Given the description of an element on the screen output the (x, y) to click on. 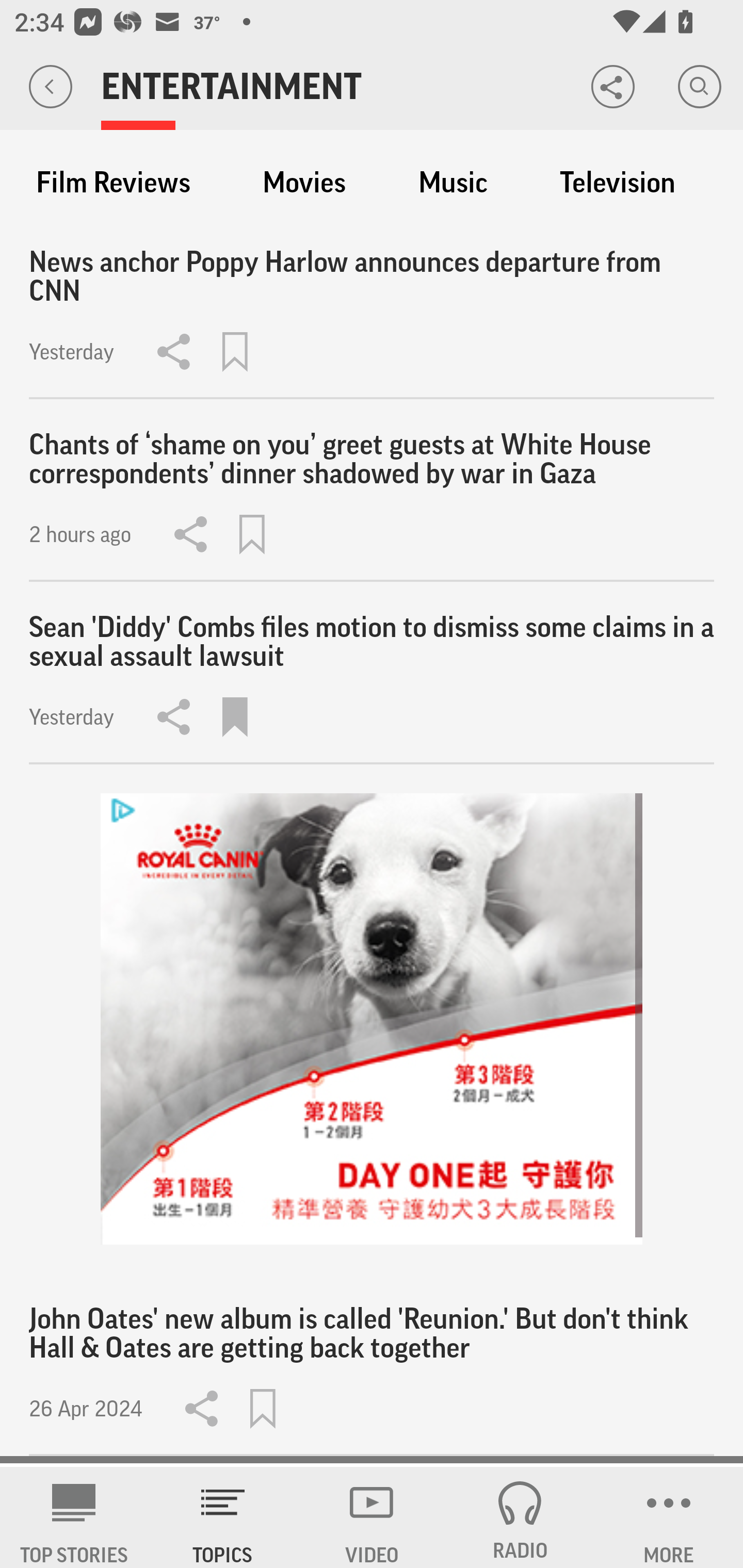
Film Reviews (112, 182)
Movies (304, 182)
Music (452, 182)
Television (617, 182)
2ab6p6vl_300x250 (371, 1018)
AP News TOP STORIES (74, 1517)
TOPICS (222, 1517)
VIDEO (371, 1517)
RADIO (519, 1517)
MORE (668, 1517)
